Given the description of an element on the screen output the (x, y) to click on. 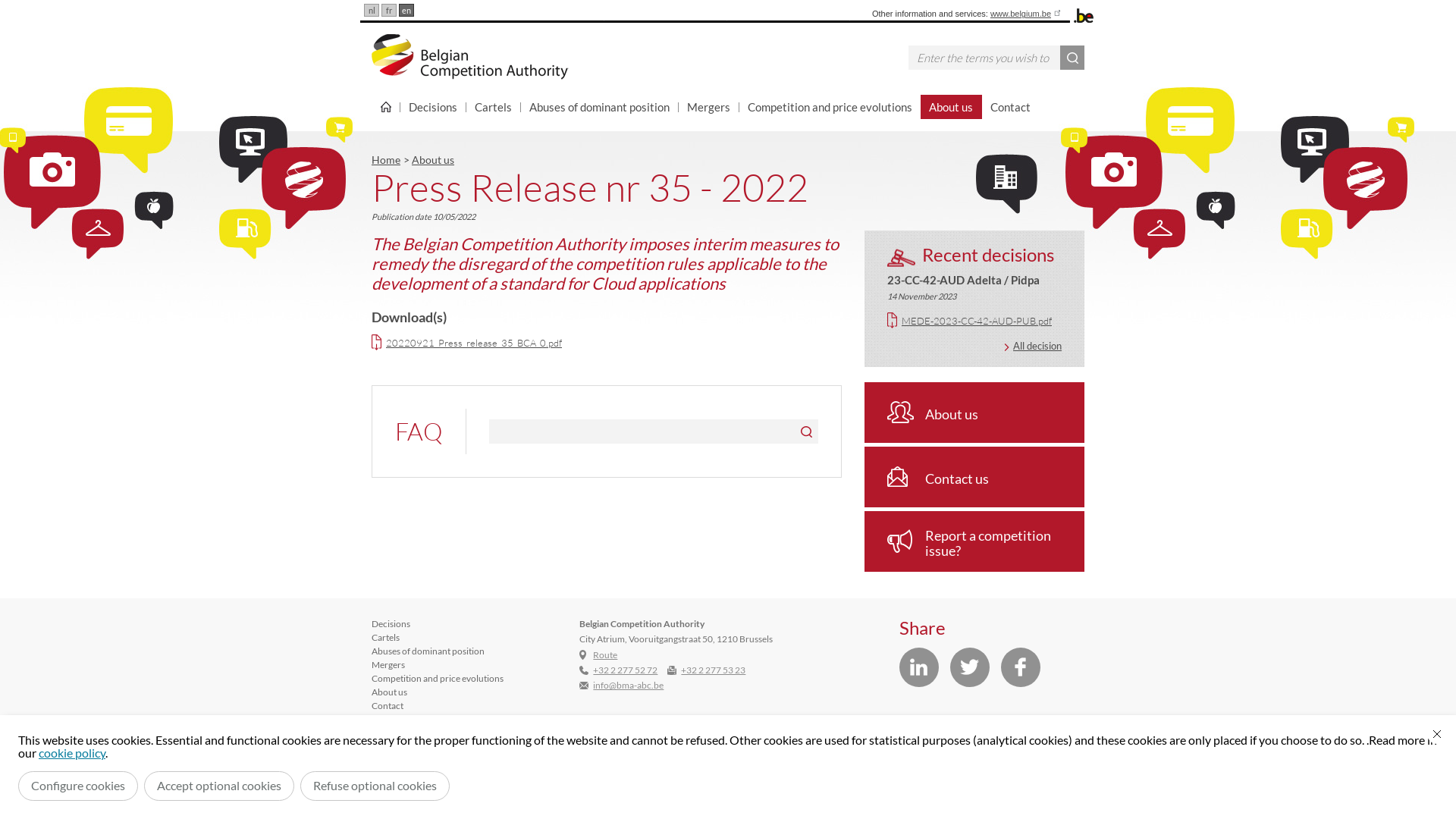
Report a competition issue? Element type: text (974, 541)
Configure cookies Element type: text (78, 785)
Contact Element type: text (387, 705)
All decision Element type: text (1032, 345)
Terms of use Element type: text (830, 749)
Home Element type: text (385, 106)
info@bma-abc.be
(link sends e-mail) Element type: text (628, 684)
About us Element type: text (974, 412)
en Element type: text (406, 9)
About us Element type: text (389, 691)
Apply Element type: text (805, 431)
Mergers Element type: text (387, 664)
Privacy Element type: text (788, 749)
nl Element type: text (371, 9)
Competition and price evolutions Element type: text (437, 678)
Abuses of dominant position Element type: text (599, 106)
Contact Element type: text (1010, 106)
Decisions Element type: text (433, 106)
Cartels Element type: text (385, 637)
Accept optional cookies Element type: text (219, 785)
About us Element type: text (432, 159)
Search Element type: text (1072, 57)
About us Element type: text (951, 106)
Abuses of dominant position Element type: text (427, 650)
Close Element type: hover (1436, 733)
Cookie Policy Element type: text (884, 749)
Route Element type: text (605, 654)
Refuse optional cookies Element type: text (374, 785)
+32 2 277 53 23 Element type: text (712, 669)
Competition and price evolutions Element type: text (830, 106)
+32 2 277 52 72 Element type: text (625, 669)
Contact us Element type: text (974, 476)
Back to the homepage Element type: hover (472, 56)
cookie policy Element type: text (71, 752)
Home Element type: text (385, 159)
www.belgium.be Element type: text (1026, 13)
Mergers Element type: text (708, 106)
Decisions Element type: text (390, 623)
23-CC-42-AUD Adelta / Pidpa Element type: text (963, 279)
fr Element type: text (388, 9)
Cartels Element type: text (493, 106)
Skip to main content Element type: text (7, 4)
